Given the description of an element on the screen output the (x, y) to click on. 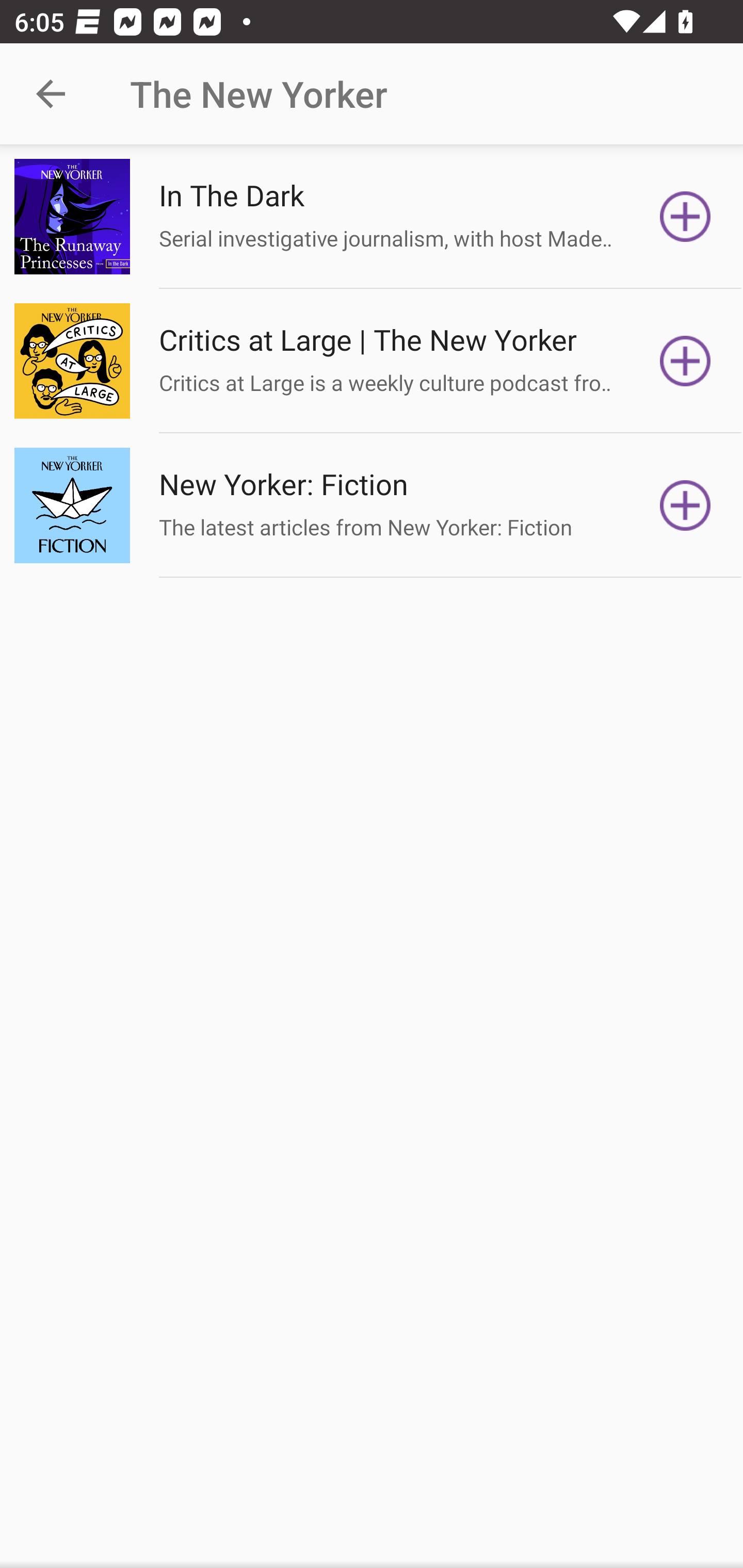
Navigate up (50, 93)
Subscribe (685, 216)
Subscribe (685, 360)
Subscribe (685, 505)
